Given the description of an element on the screen output the (x, y) to click on. 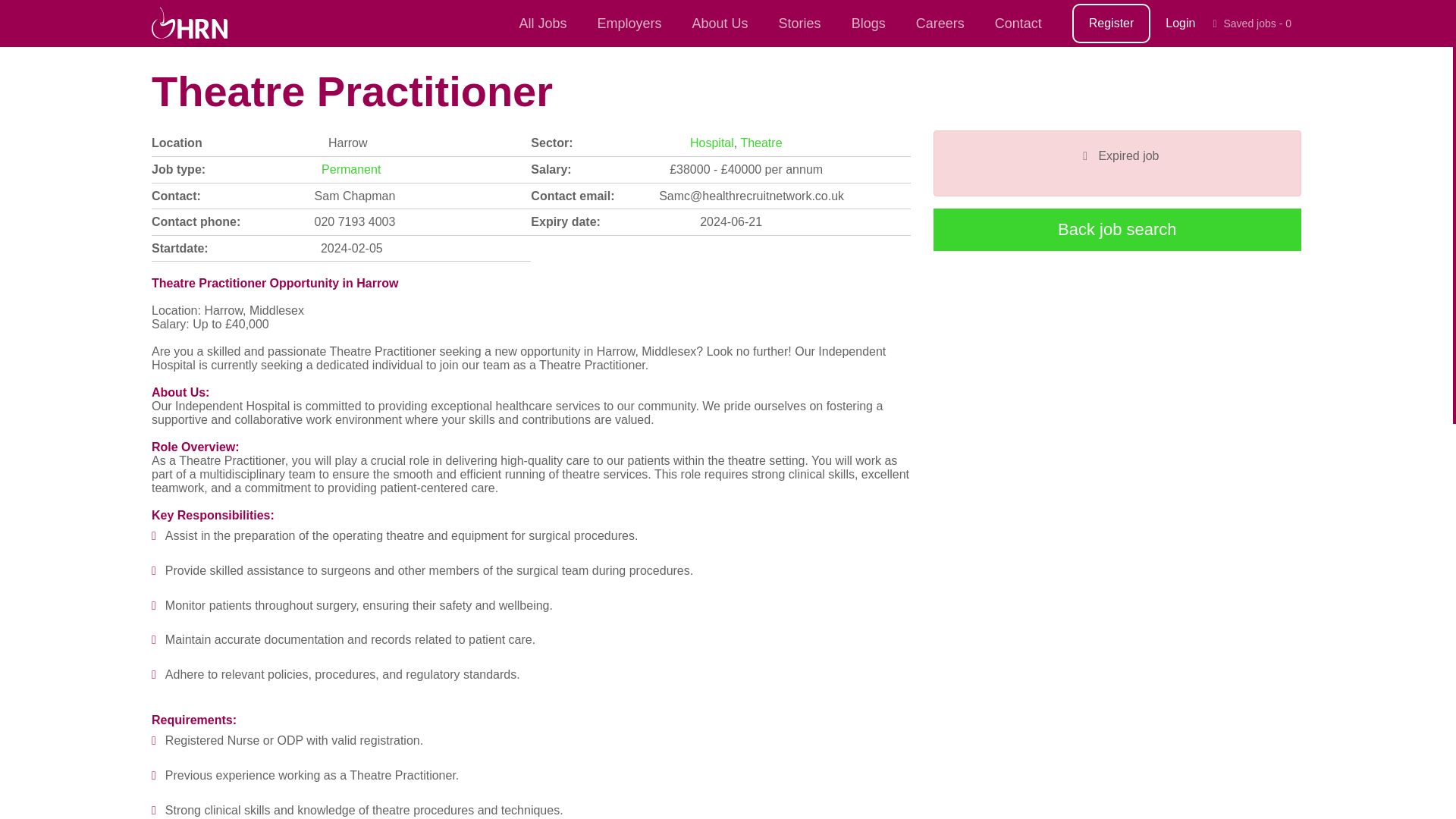
Employers (629, 22)
Permanent (350, 169)
Contact (1018, 22)
Register (1111, 23)
Blogs (868, 22)
Theatre (760, 142)
Login (1180, 23)
Careers (939, 22)
Stories (799, 22)
Saved jobs - 0 (1251, 23)
